Given the description of an element on the screen output the (x, y) to click on. 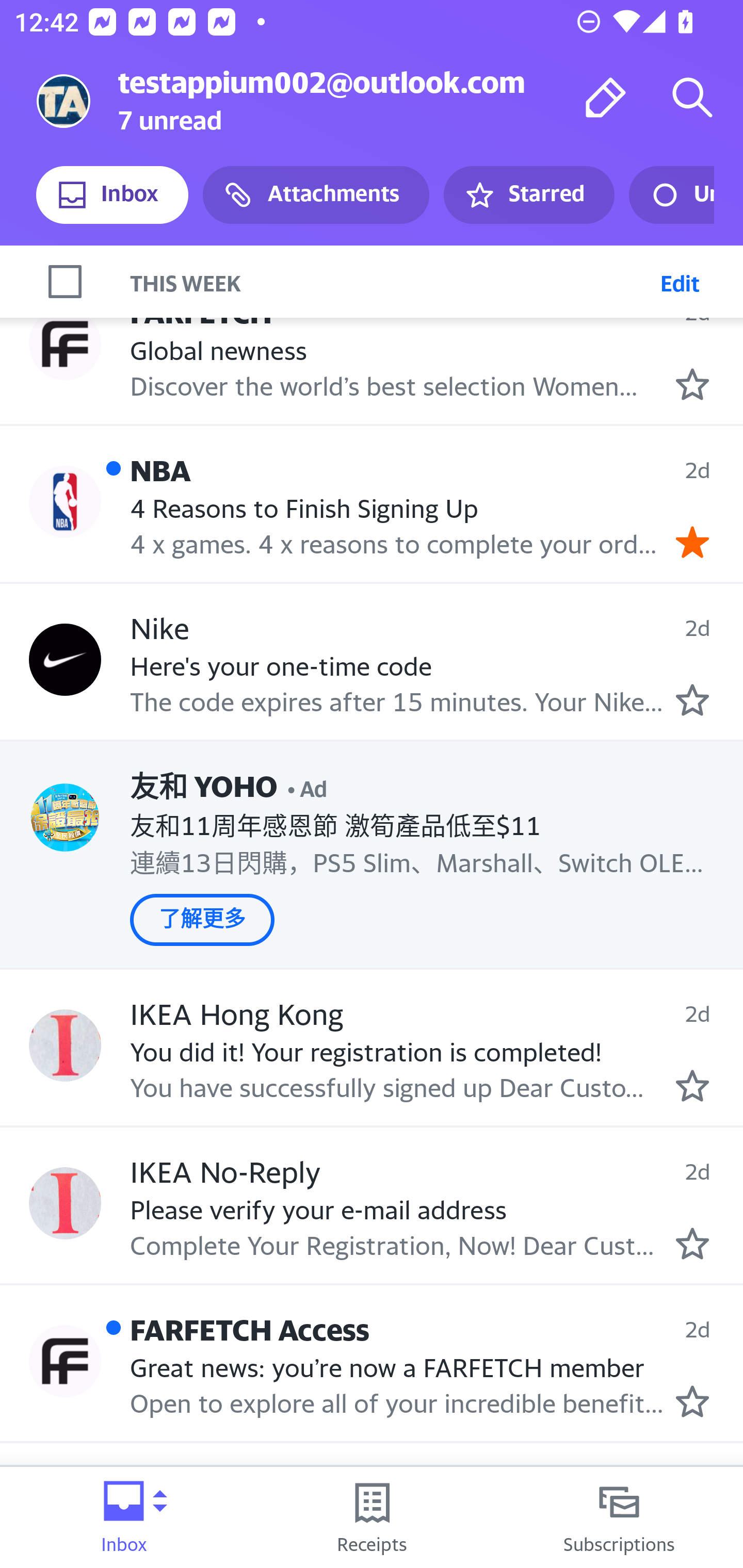
Compose (605, 97)
Search mail (692, 97)
Attachments (315, 195)
Starred (528, 195)
Profile
FARFETCH (64, 343)
Mark as starred. (692, 384)
Profile
NBA (64, 501)
Remove star. (692, 541)
Profile
Nike (64, 660)
Mark as starred. (692, 700)
Profile
IKEA Hong Kong (64, 1045)
Mark as starred. (692, 1085)
Profile
IKEA No-Reply (64, 1202)
Mark as starred. (692, 1244)
Profile
FARFETCH Access (64, 1360)
Mark as starred. (692, 1400)
Inbox Folder picker (123, 1517)
Receipts (371, 1517)
Subscriptions (619, 1517)
